Given the description of an element on the screen output the (x, y) to click on. 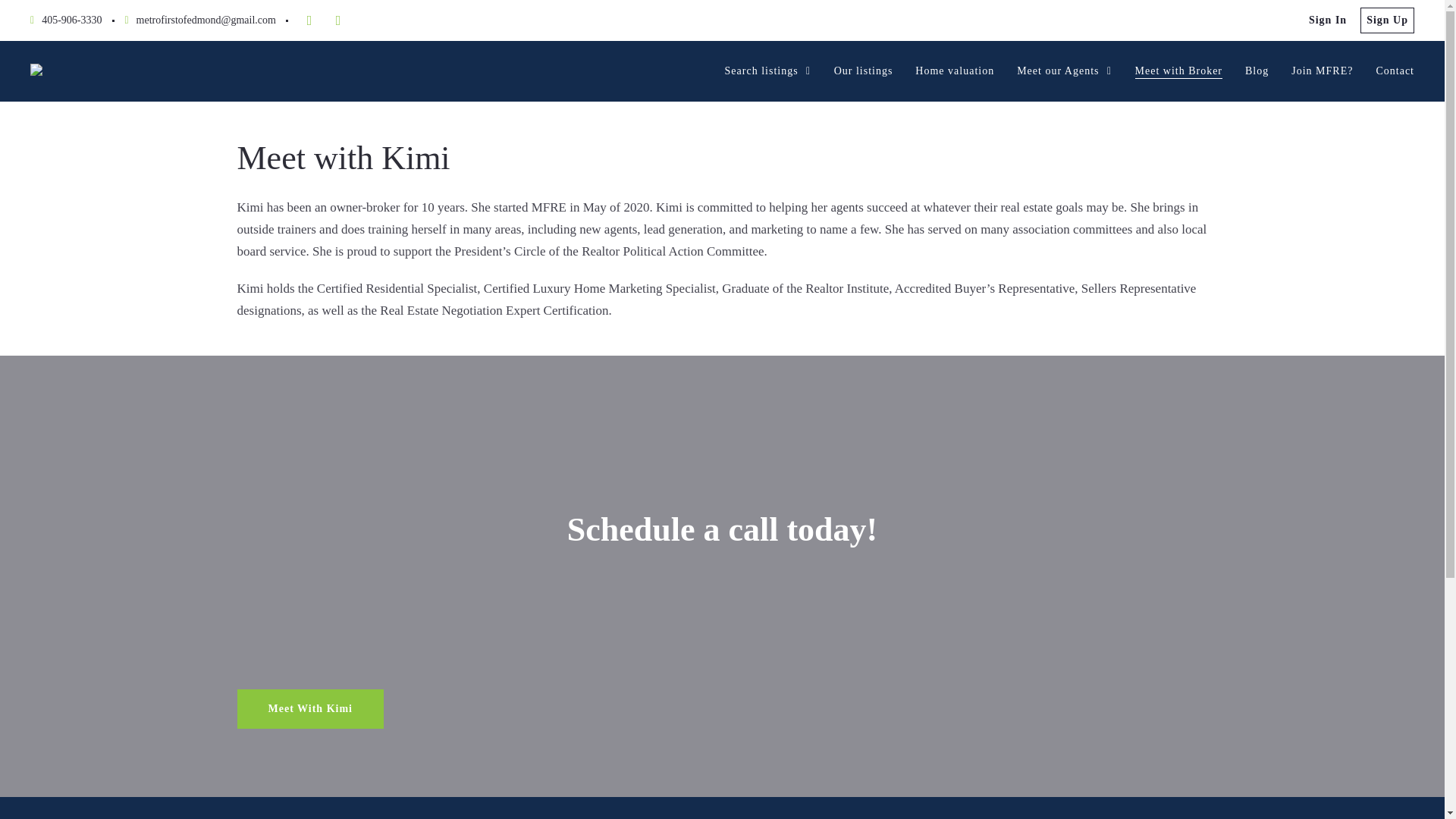
Contact (1394, 71)
405-906-3330 (65, 19)
Sign In (1327, 20)
Meet our Agents (1064, 71)
Our listings (863, 71)
Meet with Broker (1178, 71)
Home valuation (954, 71)
Join MFRE? (1321, 71)
Sign Up (1386, 20)
Sign Up (1386, 20)
